Given the description of an element on the screen output the (x, y) to click on. 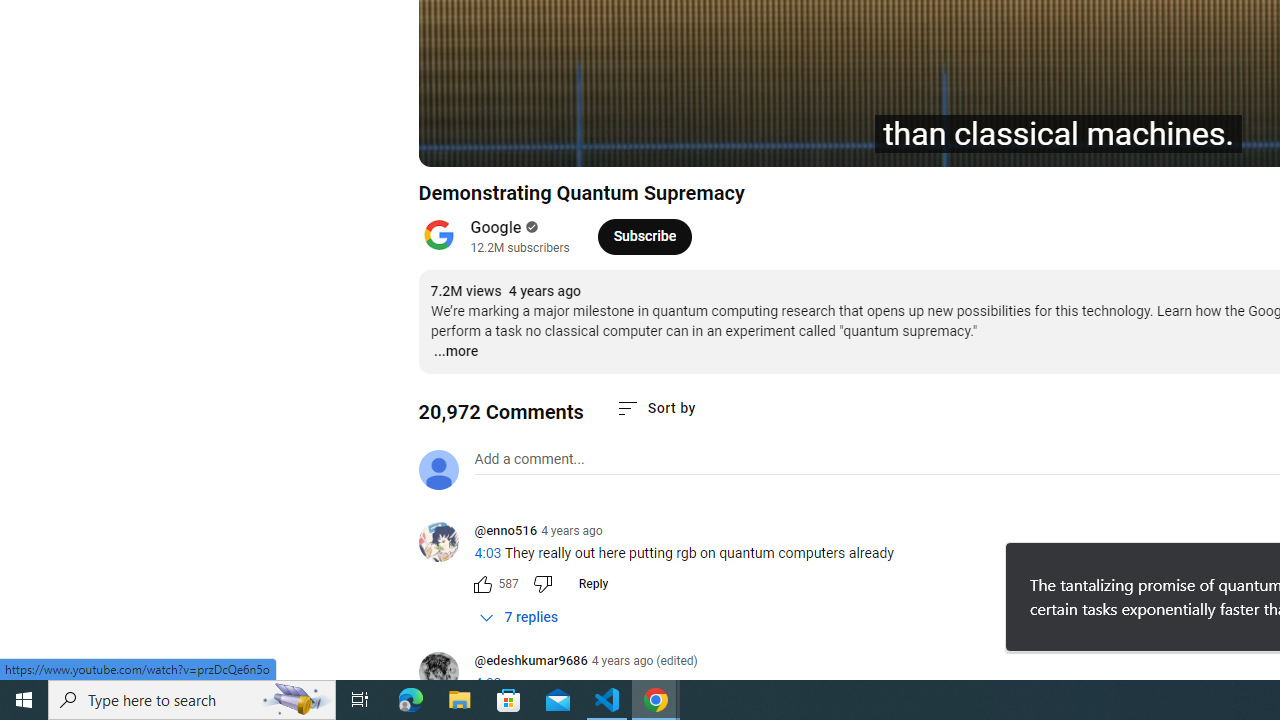
AutomationID: simplebox-placeholder (528, 459)
Sort comments (655, 408)
...more (454, 352)
Subscribe to Google. (644, 236)
Like this comment along with 587 other people (482, 583)
Next (SHIFT+n) (500, 142)
4 years ago (571, 531)
Dislike this comment (542, 583)
